Given the description of an element on the screen output the (x, y) to click on. 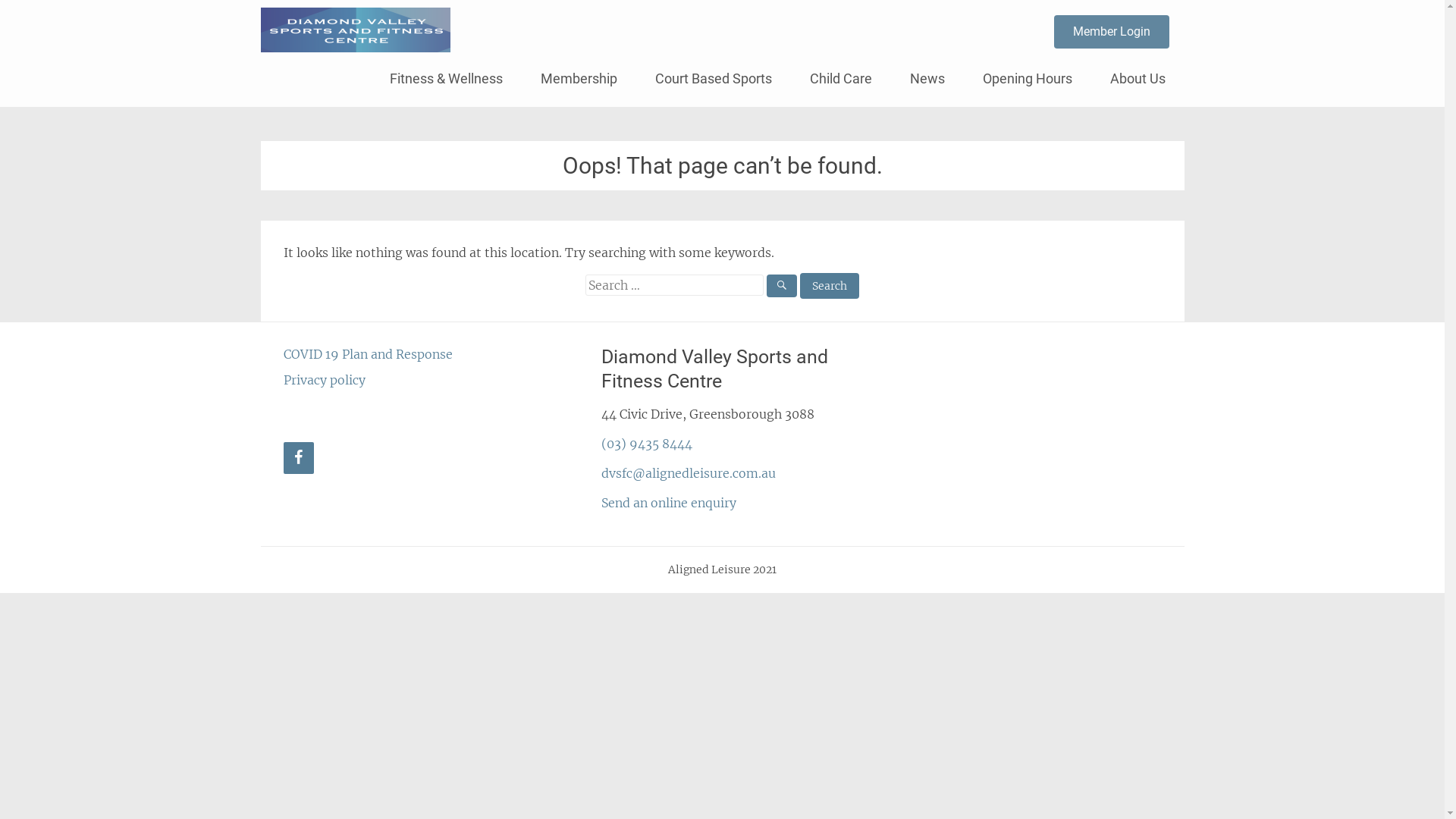
dvsfc@alignedleisure.com.au Element type: text (688, 472)
Court Based Sports Element type: text (712, 78)
Member Login Element type: text (1111, 31)
Diamond Valley Sports and Fitness Centre Element type: text (721, 27)
Membership Element type: text (578, 78)
About Us Element type: text (1136, 78)
Skip to content Element type: text (389, 57)
Privacy policy Element type: text (324, 379)
News Element type: text (926, 78)
(03) 9435 8444 Element type: text (646, 443)
COVID 19 Plan and Response Element type: text (367, 353)
Child Care Element type: text (840, 78)
Opening Hours Element type: text (1026, 78)
Send an online enquiry Element type: text (668, 502)
Search Element type: text (829, 285)
Fitness & Wellness Element type: text (445, 78)
